Given the description of an element on the screen output the (x, y) to click on. 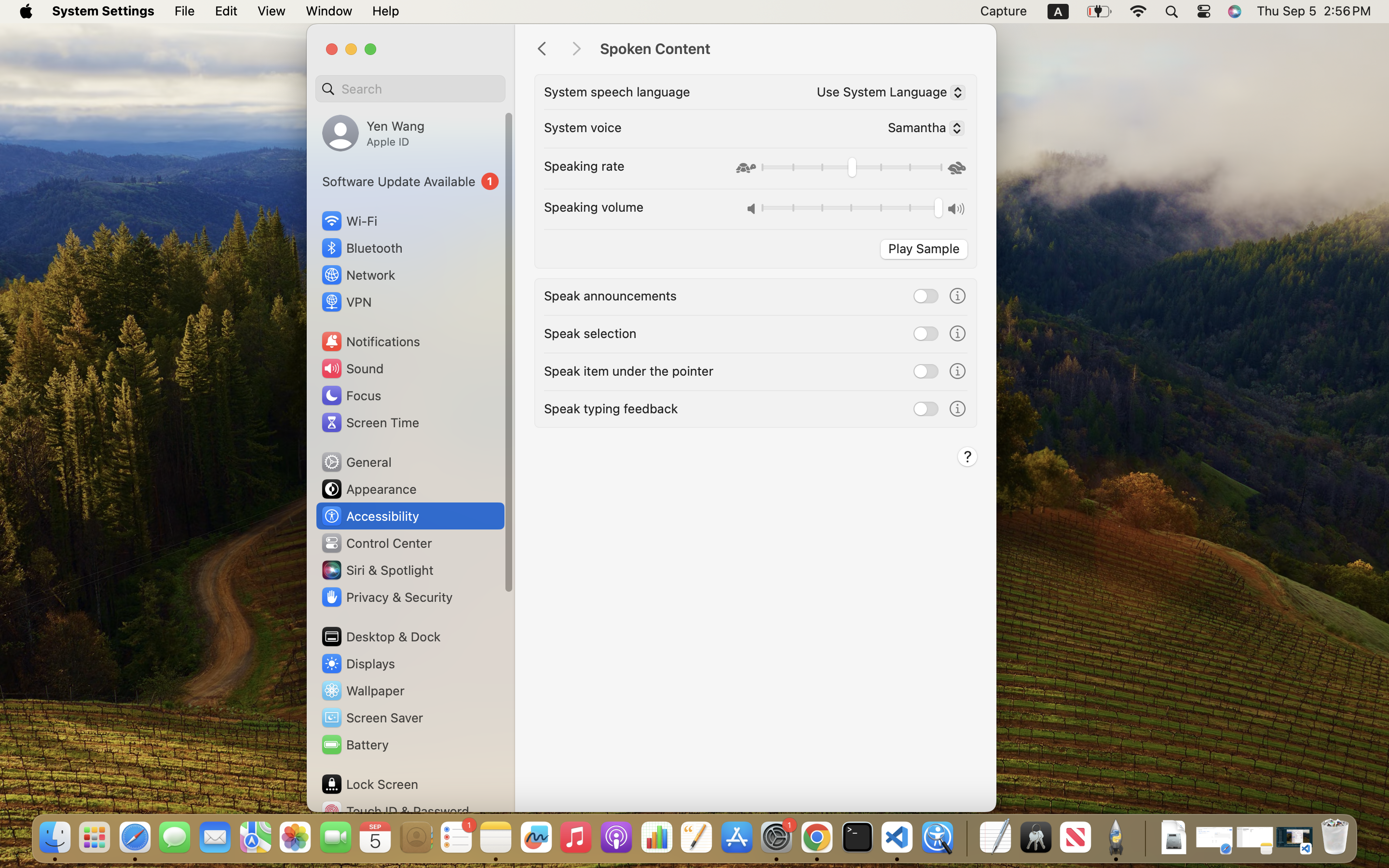
1 Element type: AXStaticText (410, 180)
Use System Language Element type: AXPopUpButton (886, 93)
Notifications Element type: AXStaticText (370, 340)
System voice Element type: AXStaticText (582, 127)
